Given the description of an element on the screen output the (x, y) to click on. 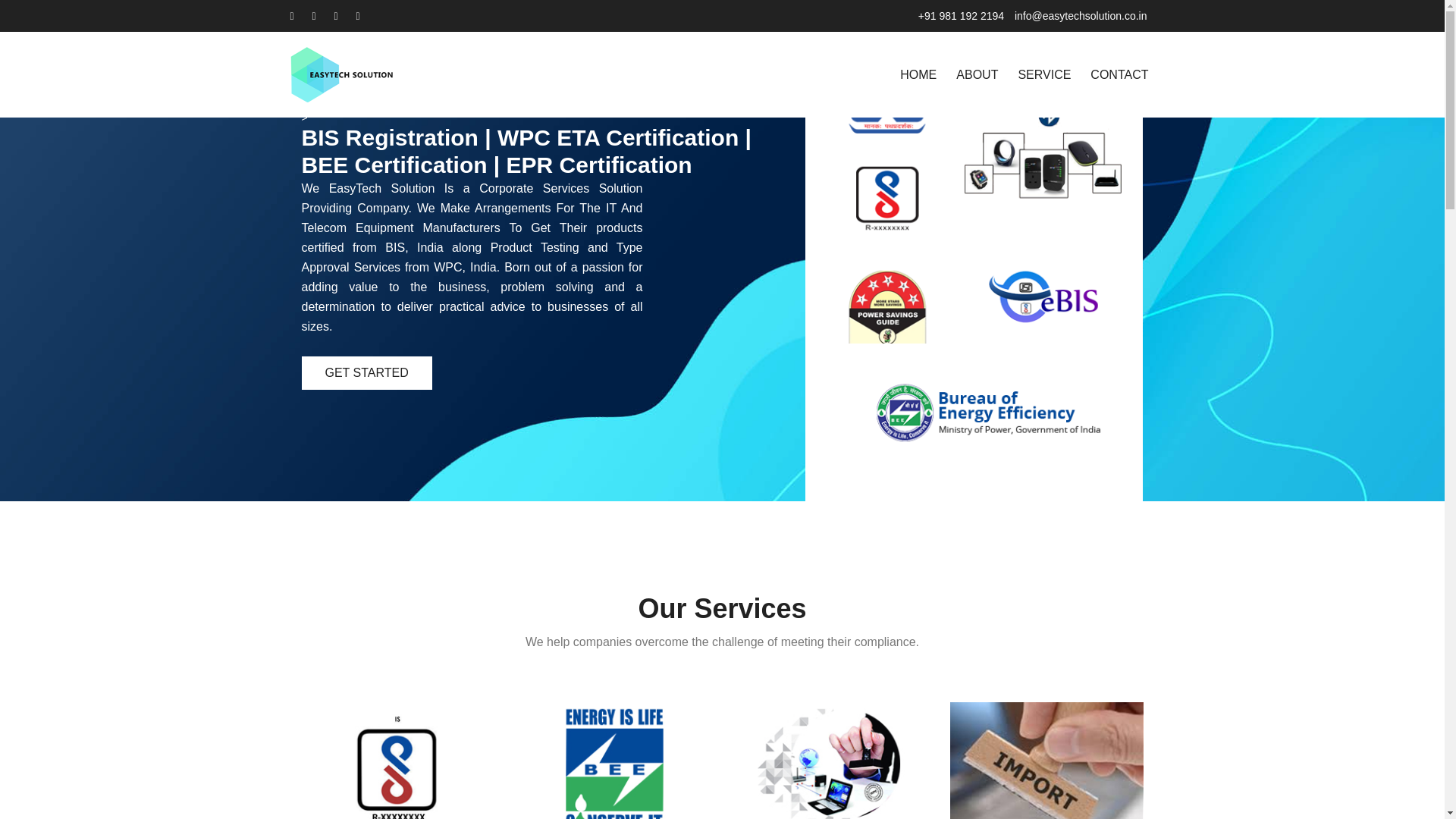
GET STARTED (366, 372)
ABOUT (977, 75)
SERVICE (1044, 75)
CONTACT (1119, 75)
HOME (917, 75)
